Given the description of an element on the screen output the (x, y) to click on. 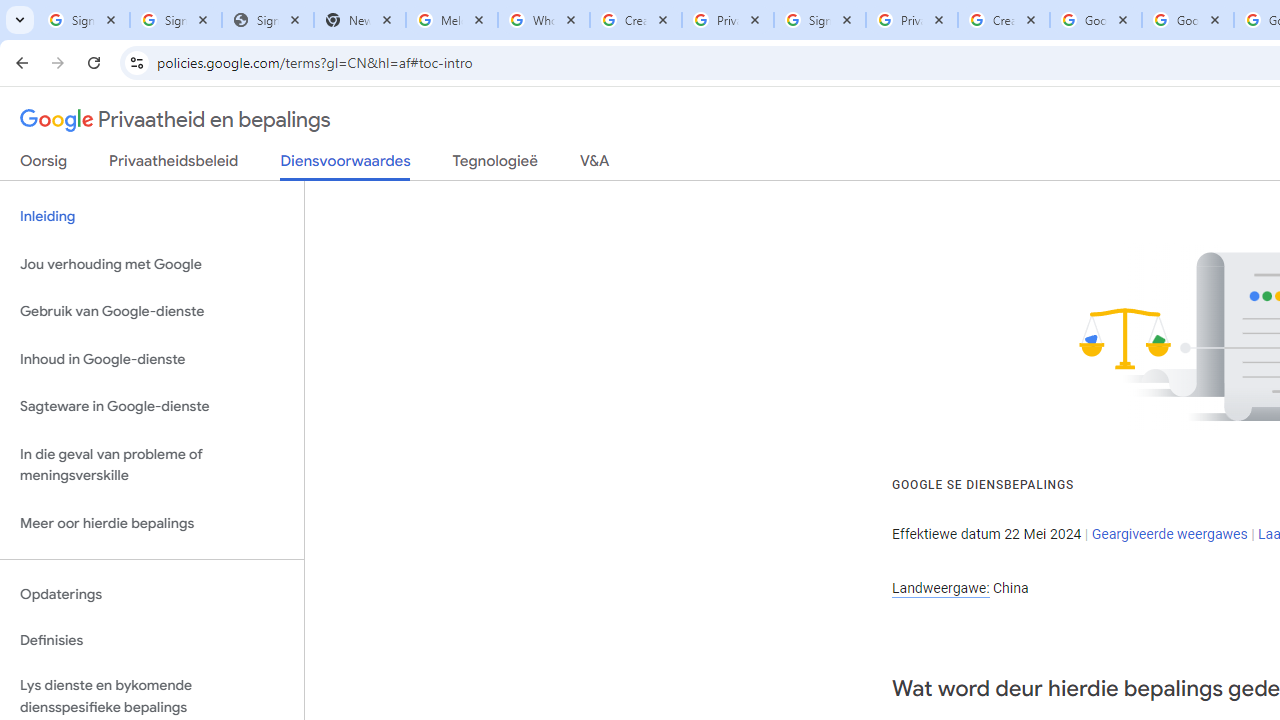
Sign in - Google Accounts (83, 20)
New Tab (359, 20)
Jou verhouding met Google (152, 263)
Gebruik van Google-dienste (152, 312)
Privaatheid en bepalings (175, 120)
V&A (594, 165)
Create your Google Account (1003, 20)
Who is my administrator? - Google Account Help (543, 20)
In die geval van probleme of meningsverskille (152, 464)
Meer oor hierdie bepalings (152, 522)
Sign in - Google Accounts (820, 20)
Diensvoorwaardes (345, 166)
